Given the description of an element on the screen output the (x, y) to click on. 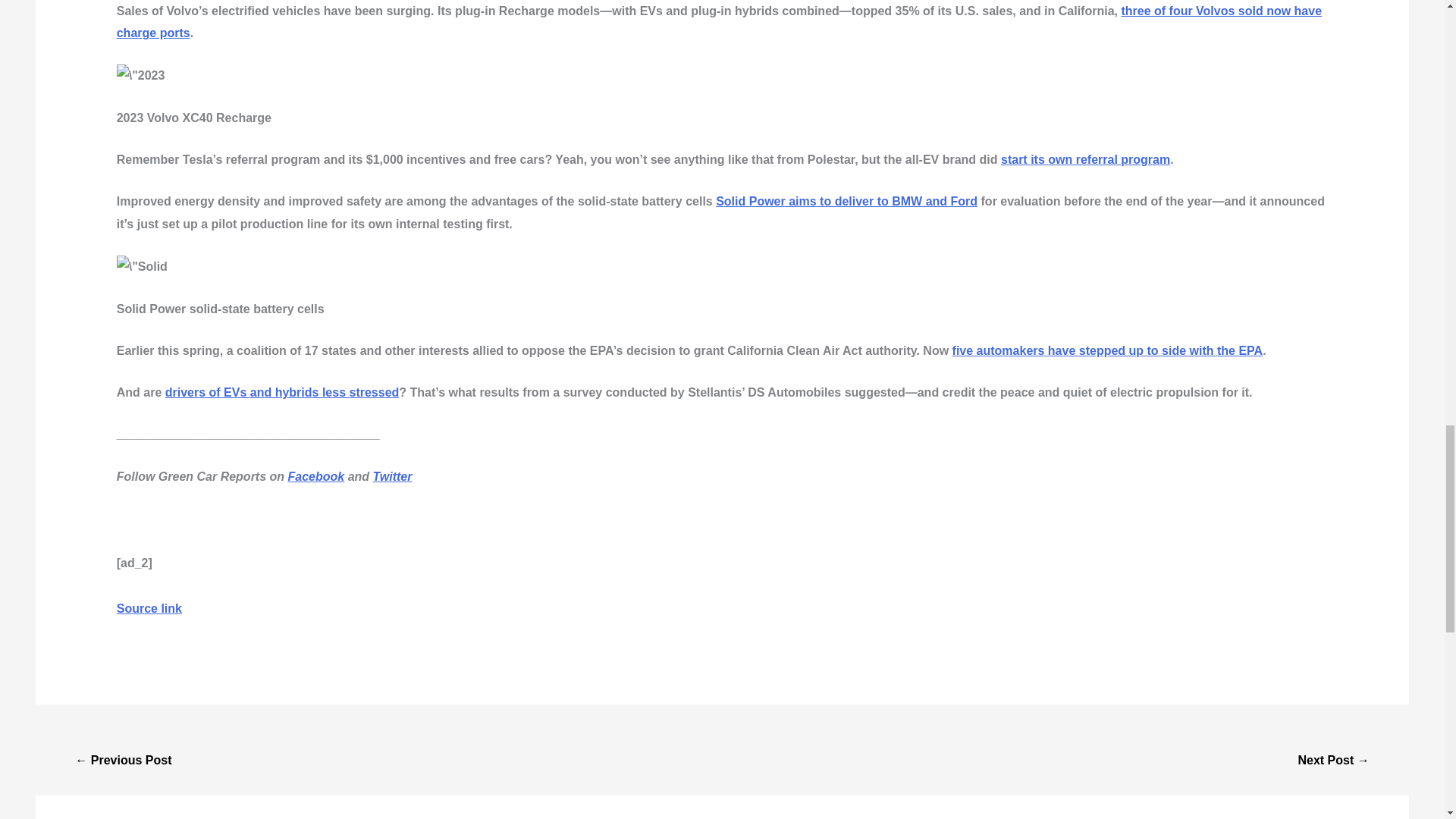
drivers of EVs and hybrids less stressed (281, 391)
Source link (149, 608)
three of four Volvos sold now have charge ports (719, 22)
Facebook (316, 476)
Solid Power aims to deliver to BMW and Ford (846, 201)
start its own referral program (1085, 159)
five automakers have stepped up to side with the EPA (1107, 350)
Twitter (392, 476)
